Given the description of an element on the screen output the (x, y) to click on. 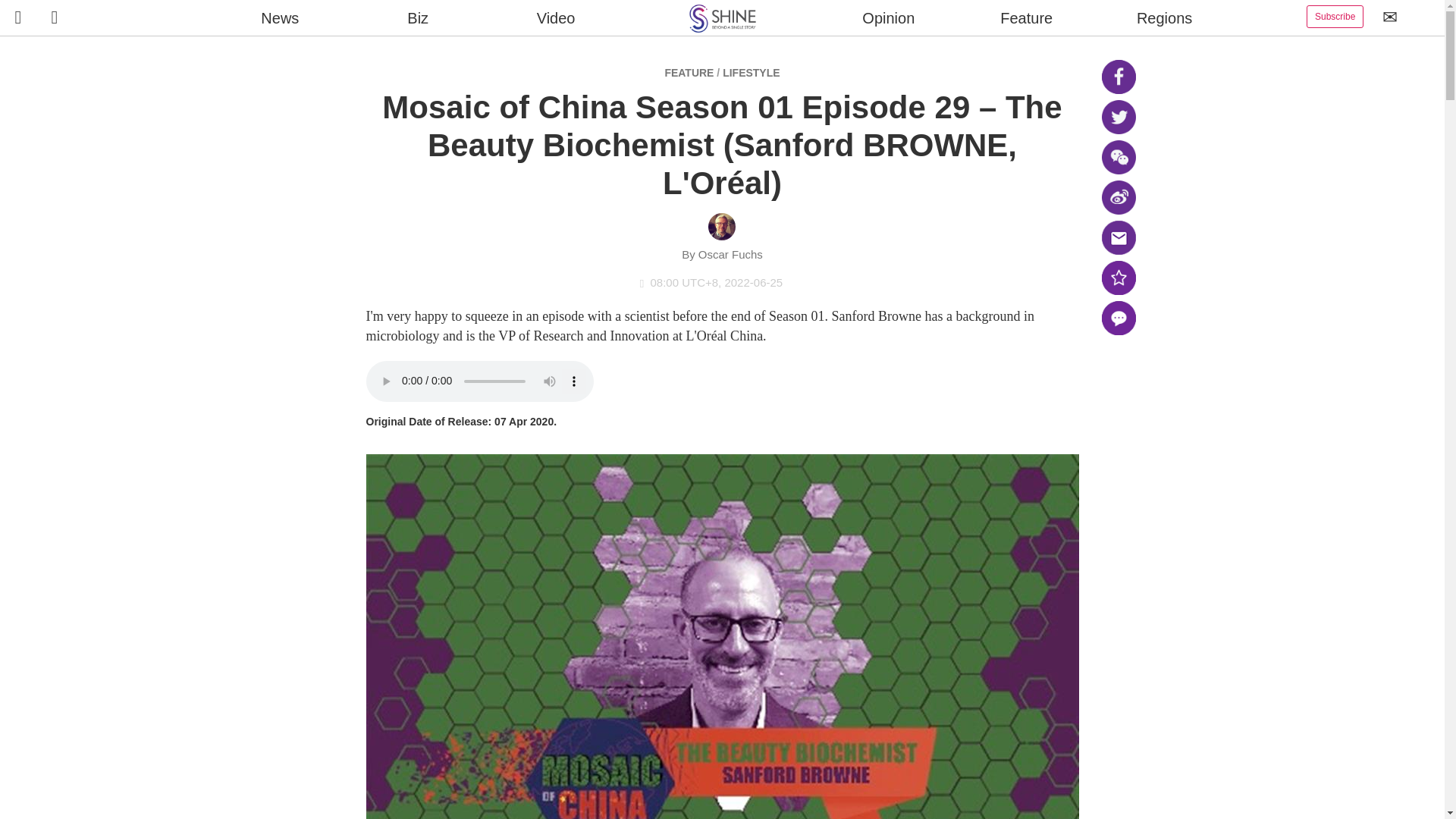
LIFESTYLE (750, 72)
Share your comments (1117, 317)
Add to favorites (1117, 277)
Share via email (1117, 237)
FEATURE (688, 72)
